Given the description of an element on the screen output the (x, y) to click on. 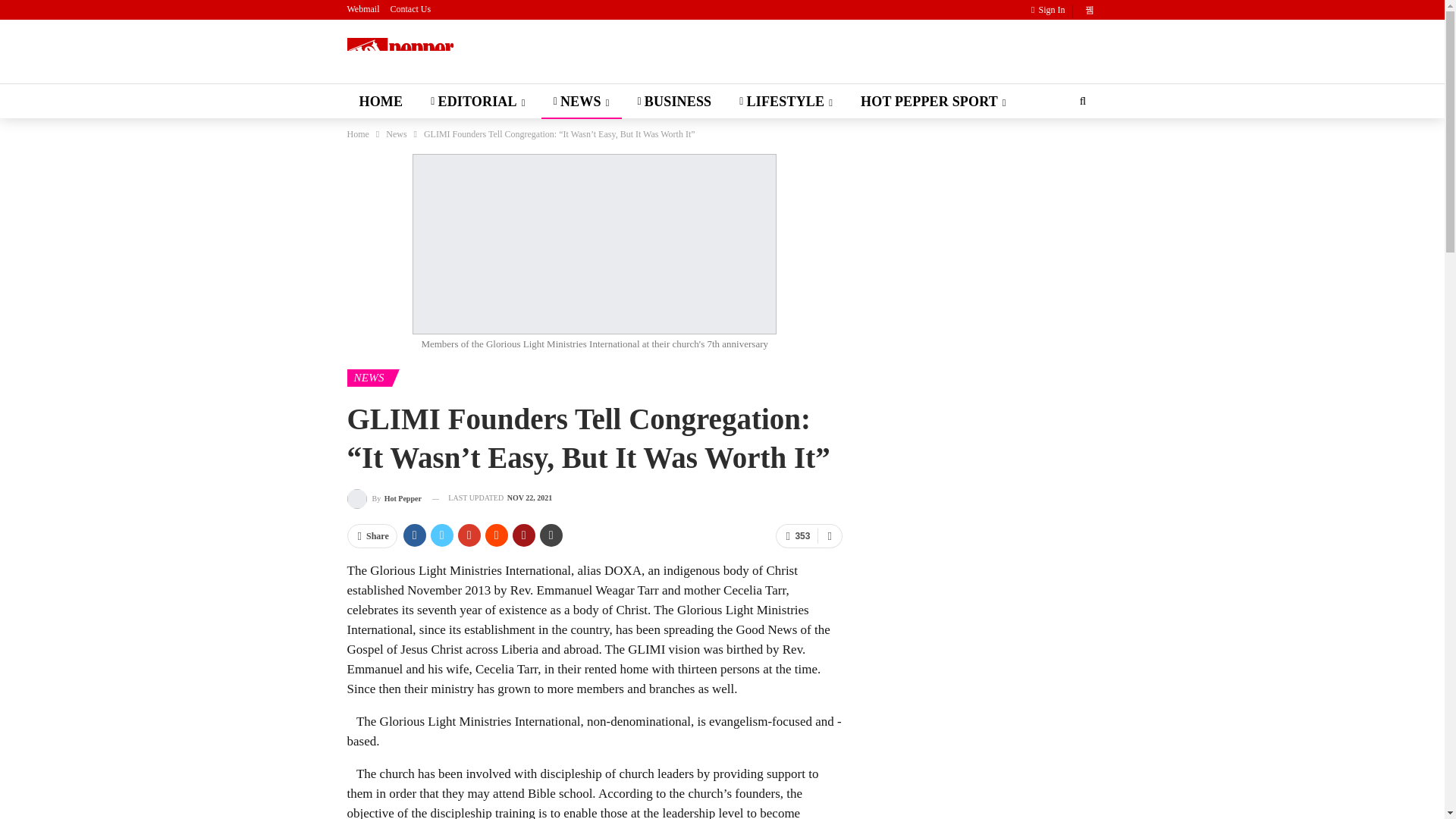
NEWS (581, 102)
HOME (380, 102)
Webmail (363, 9)
EDITORIAL (478, 102)
Sign In (1050, 10)
Contact Us (410, 9)
